Given the description of an element on the screen output the (x, y) to click on. 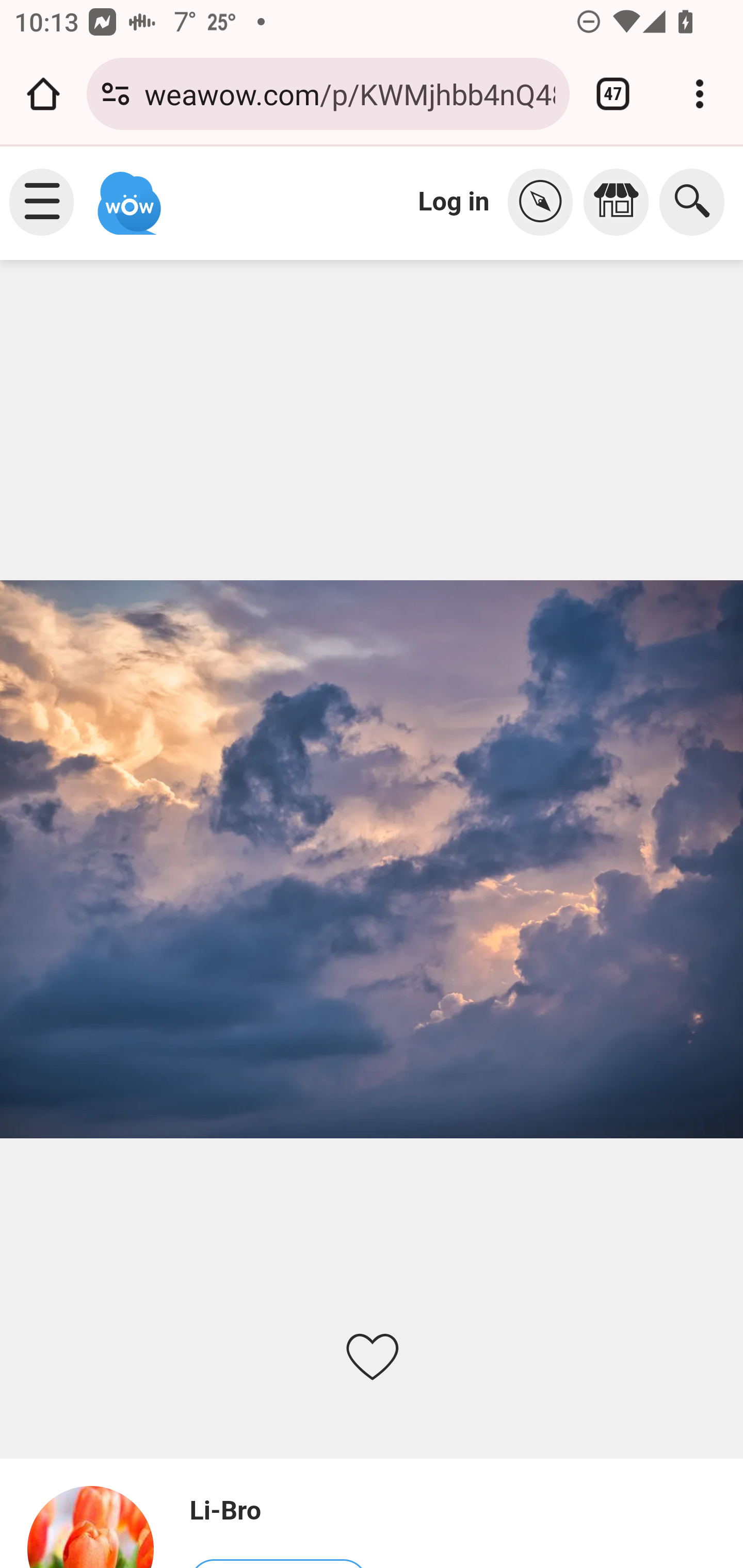
Open the home page (43, 93)
Connection is secure (115, 93)
Switch or close tabs (612, 93)
Customize and control Google Chrome (699, 93)
weawow.com/p/KWMjhbb4nQ486168 (349, 92)
Weawow (127, 194)
 (545, 201)
 (621, 201)
Log in (453, 201)
Li-Bro (99, 1525)
Li-Bro (277, 1510)
